Given the description of an element on the screen output the (x, y) to click on. 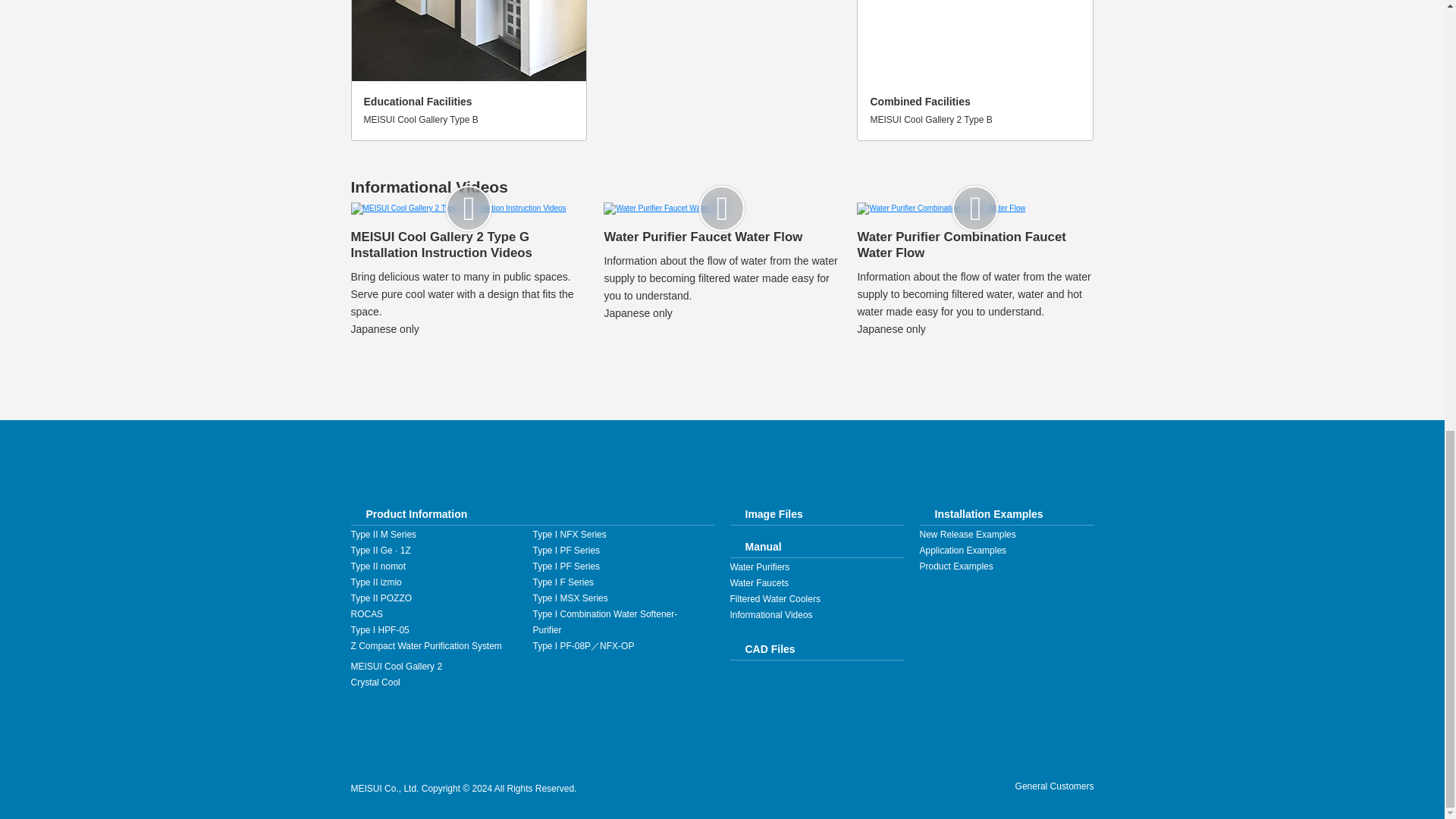
Play Video (722, 208)
Play Video (468, 208)
